Given the description of an element on the screen output the (x, y) to click on. 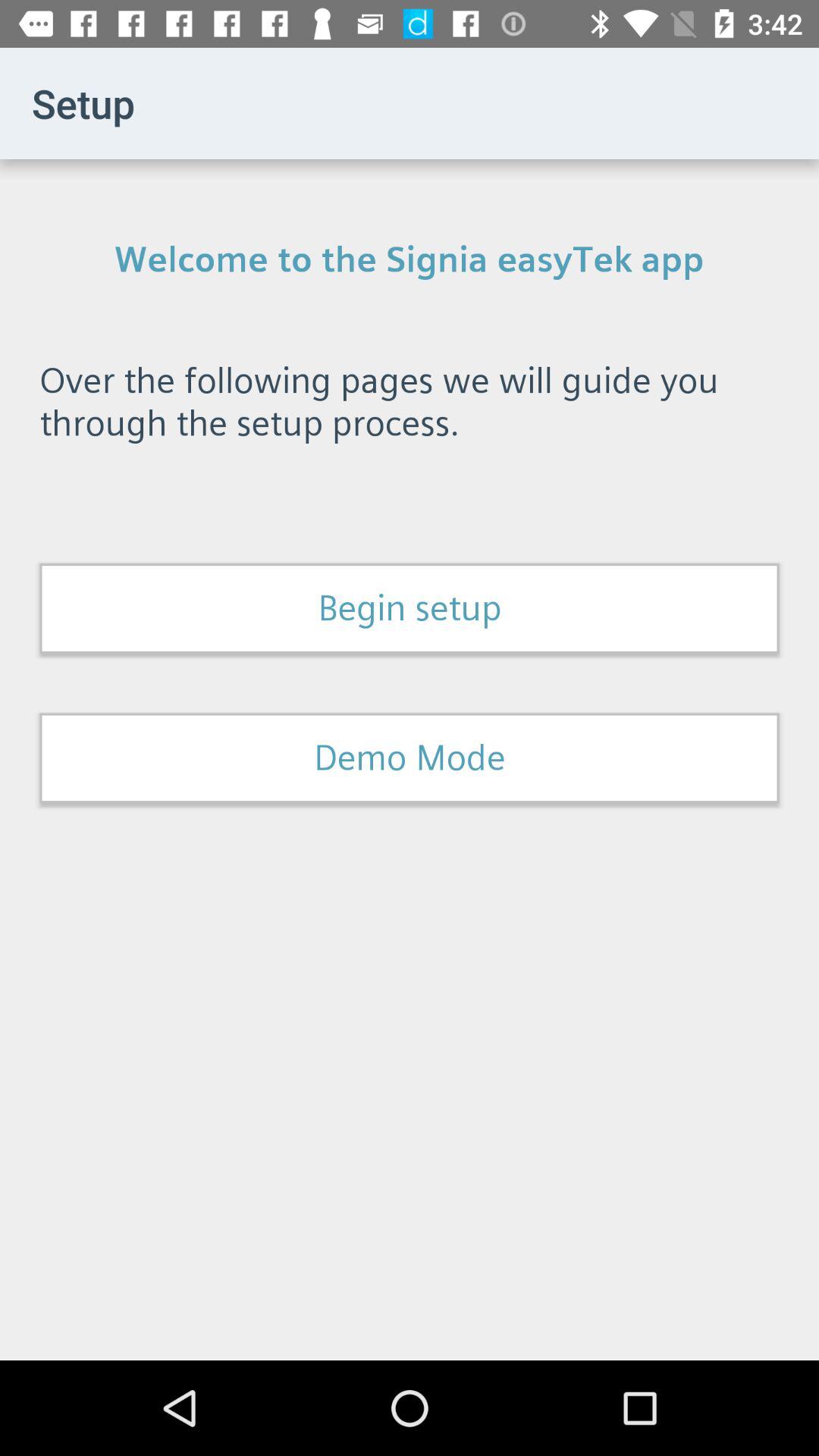
click the item below the begin setup icon (409, 758)
